Given the description of an element on the screen output the (x, y) to click on. 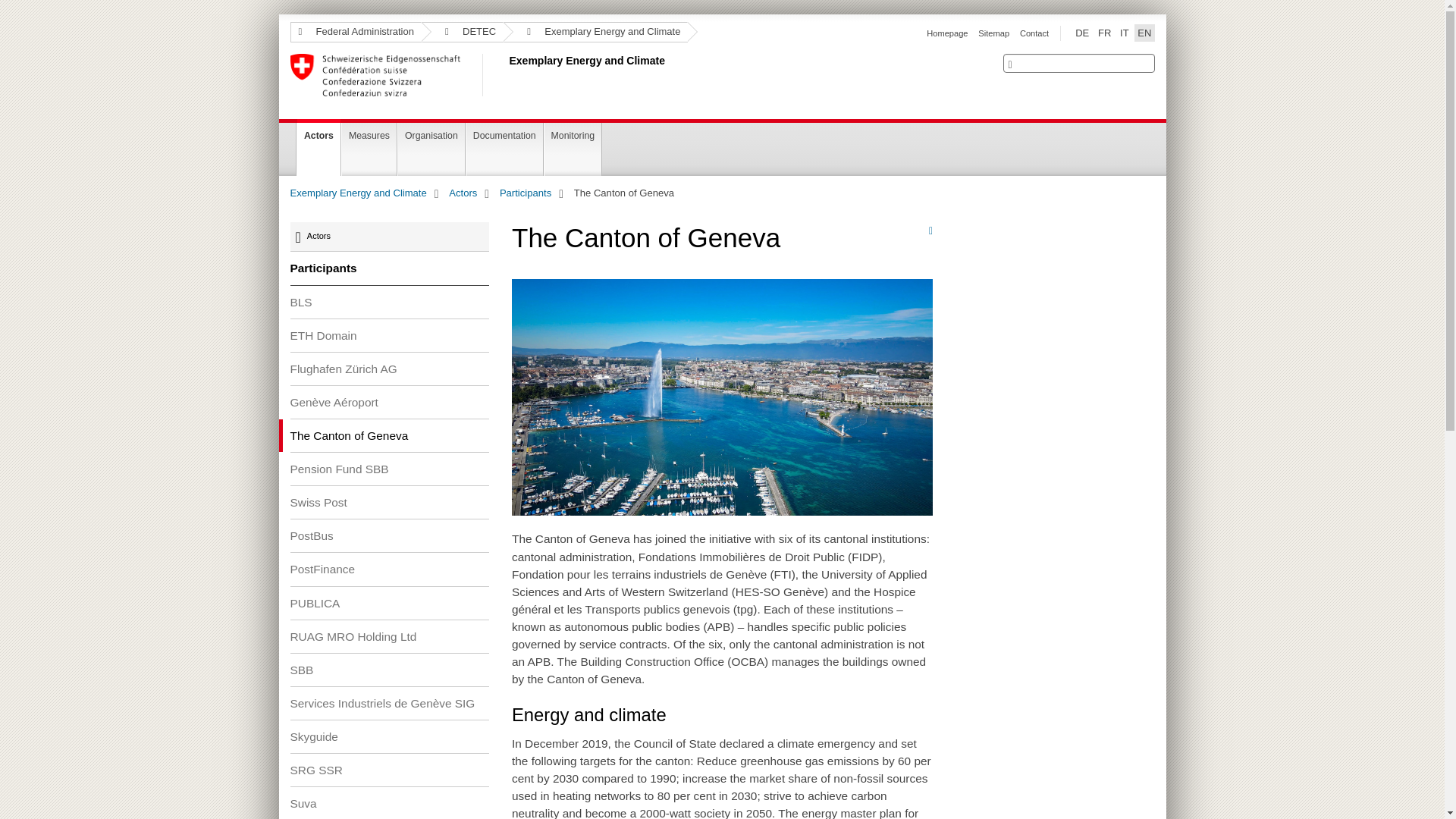
Homepage (947, 32)
FR (1103, 32)
Sitemap (993, 32)
EN (1144, 32)
Exemplary Energy and Climate (505, 75)
Exemplary Energy and Climate (357, 193)
German (1081, 32)
Contact (1034, 32)
Exemplary Energy and Climate (505, 75)
French (1103, 32)
Homepage (947, 32)
Exemplary Energy and Climate (595, 32)
English selected (1144, 32)
Federal Administration (354, 32)
DE (1081, 32)
